Given the description of an element on the screen output the (x, y) to click on. 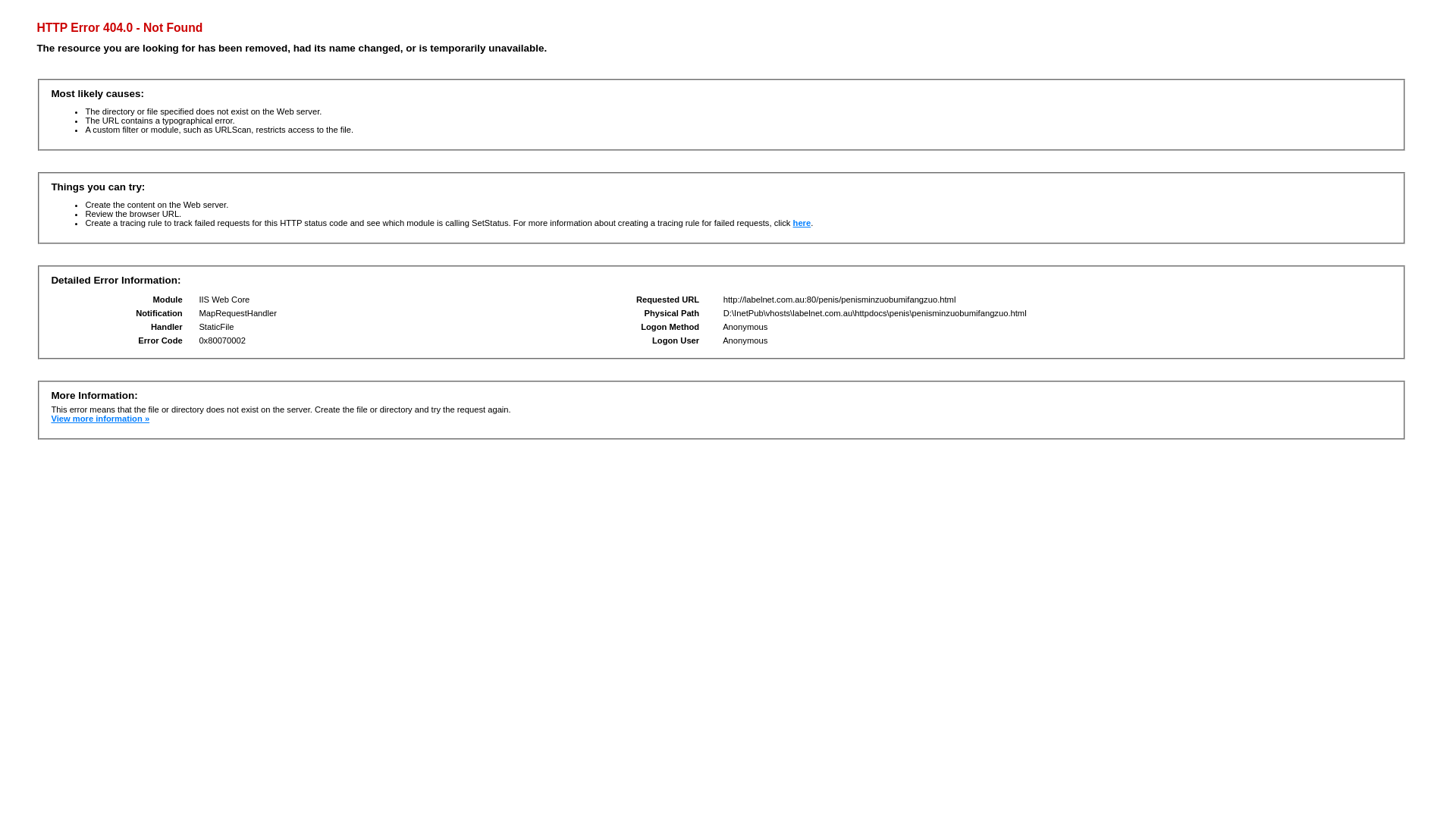
here Element type: text (802, 222)
